Given the description of an element on the screen output the (x, y) to click on. 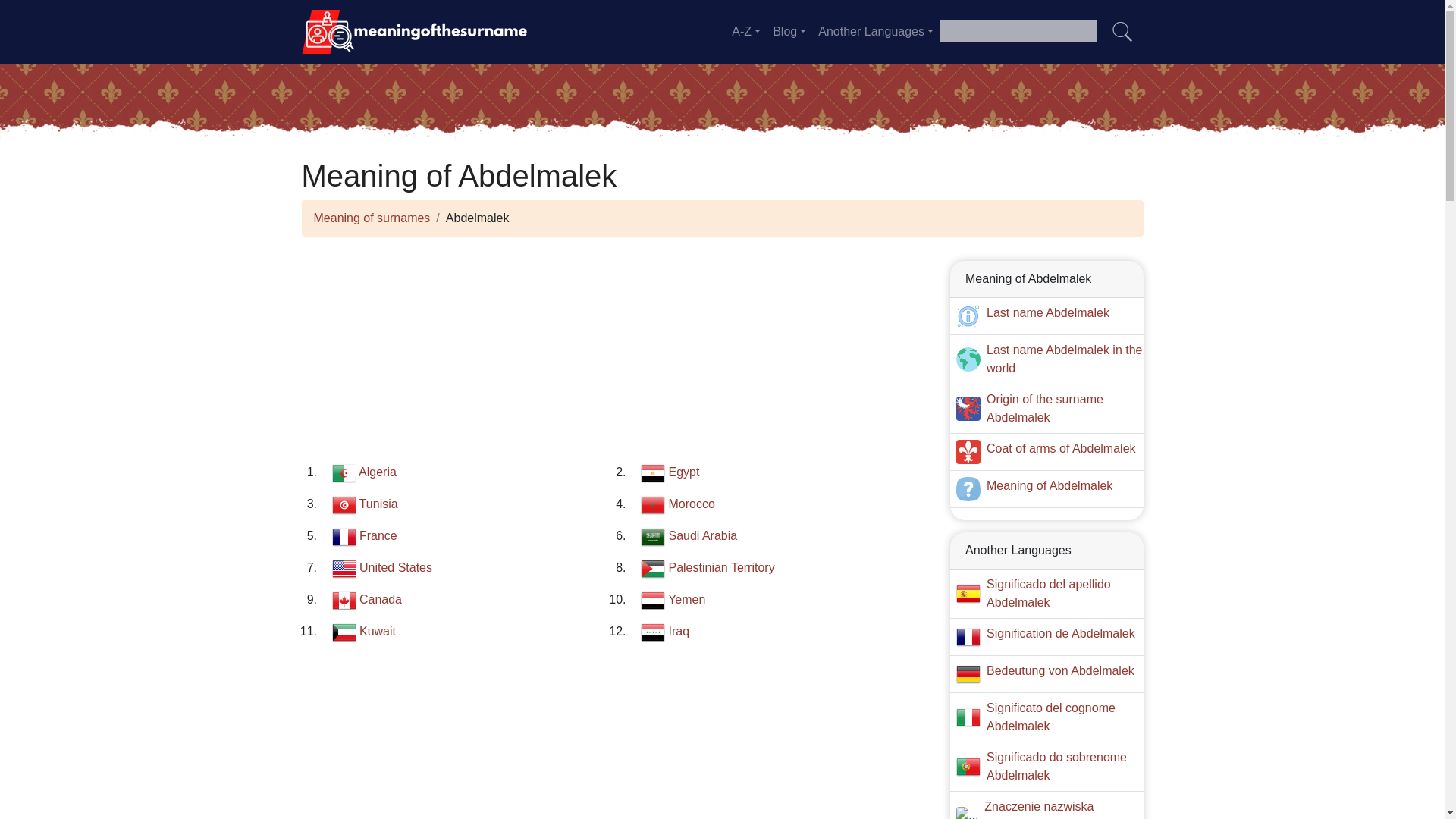
A-Z (746, 31)
Blog (789, 31)
